Given the description of an element on the screen output the (x, y) to click on. 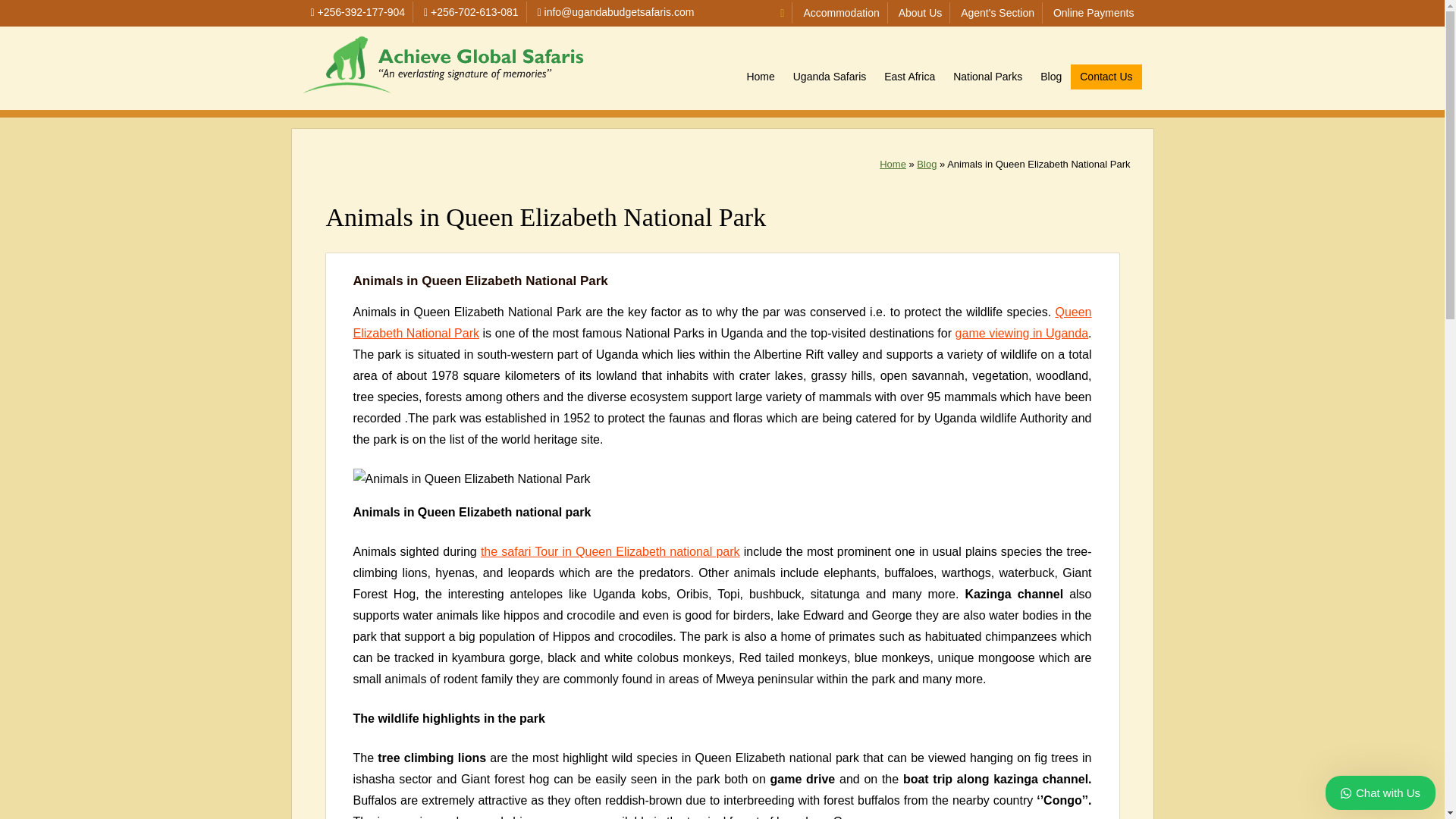
Home (892, 163)
About Us (920, 12)
Blog (926, 163)
National Parks (986, 76)
Accommodation (841, 12)
Blog (1050, 76)
the safari Tour in Queen Elizabeth national park (609, 551)
Home (759, 76)
Online Payments (1093, 12)
Contact Us (1105, 76)
